Given the description of an element on the screen output the (x, y) to click on. 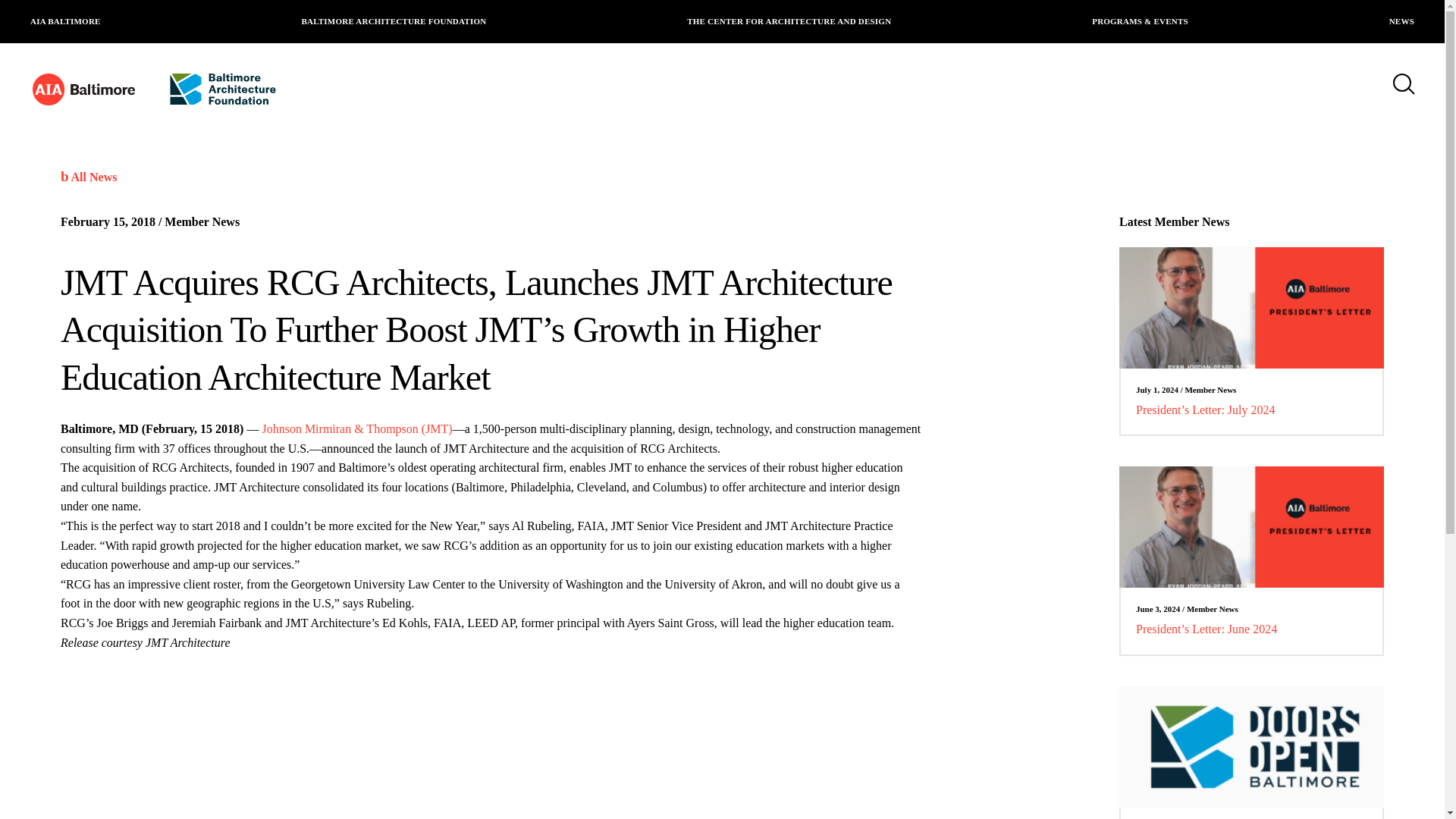
BALTIMORE ARCHITECTURE FOUNDATION (393, 21)
All News (88, 175)
AIA BALTIMORE (65, 21)
THE CENTER FOR ARCHITECTURE AND DESIGN (788, 21)
a (1284, 10)
